Given the description of an element on the screen output the (x, y) to click on. 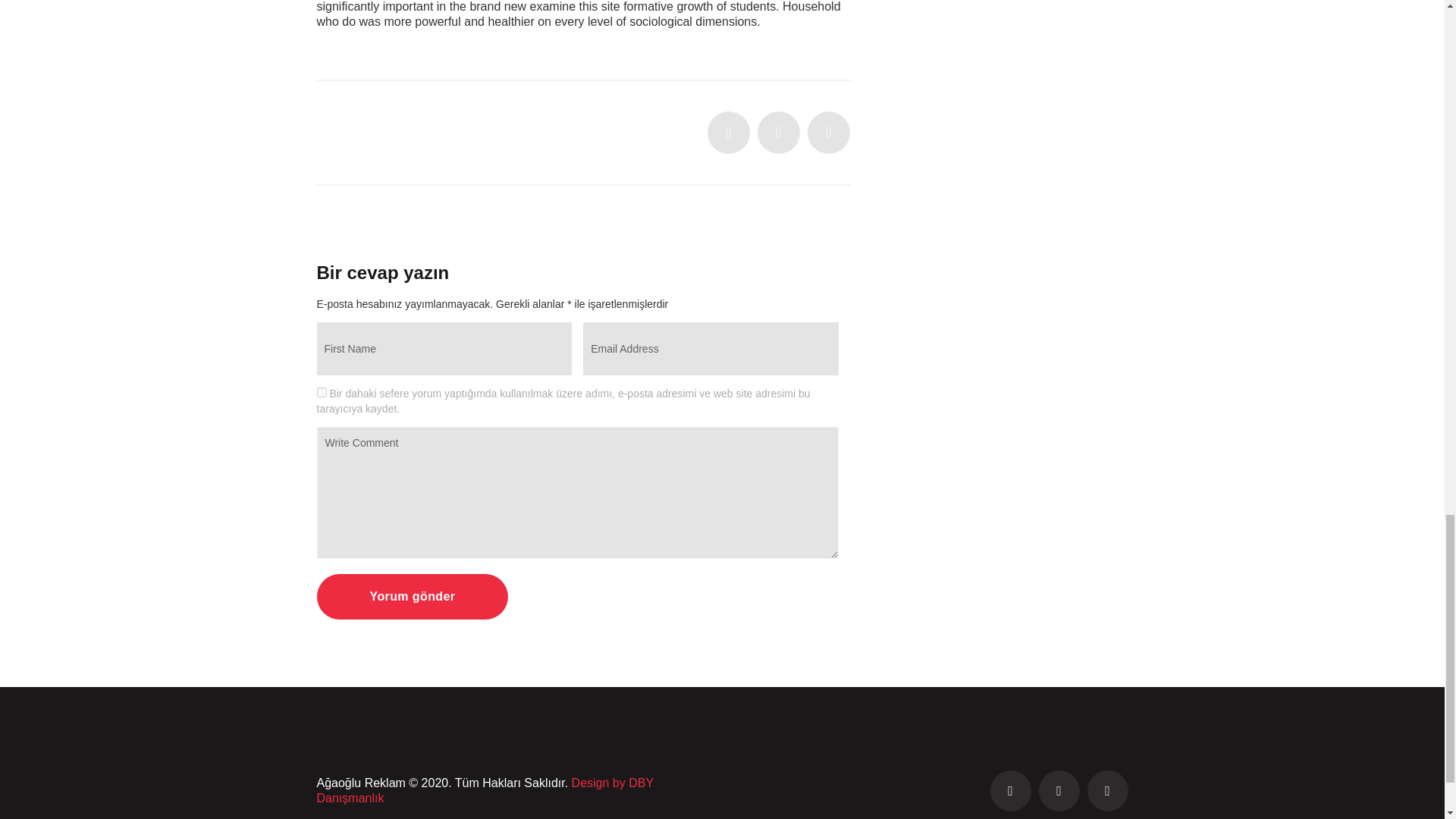
examine this site (574, 6)
Social Share whatsapp (829, 132)
yes (321, 392)
Social Share facebook (778, 132)
Social Share twitter (728, 132)
